Given the description of an element on the screen output the (x, y) to click on. 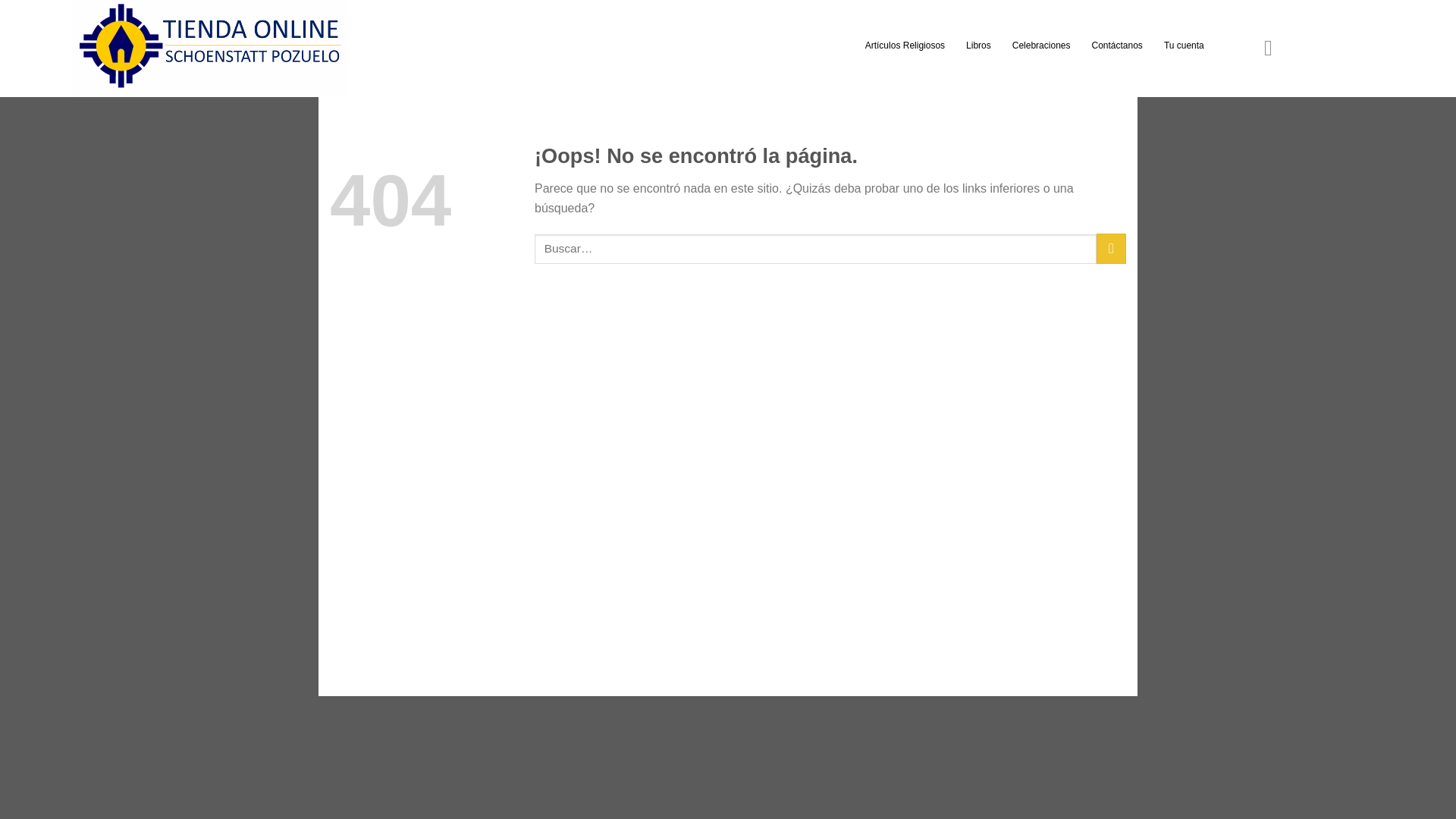
Tu cuenta (1183, 45)
Libros (978, 45)
Celebraciones (1041, 45)
